Given the description of an element on the screen output the (x, y) to click on. 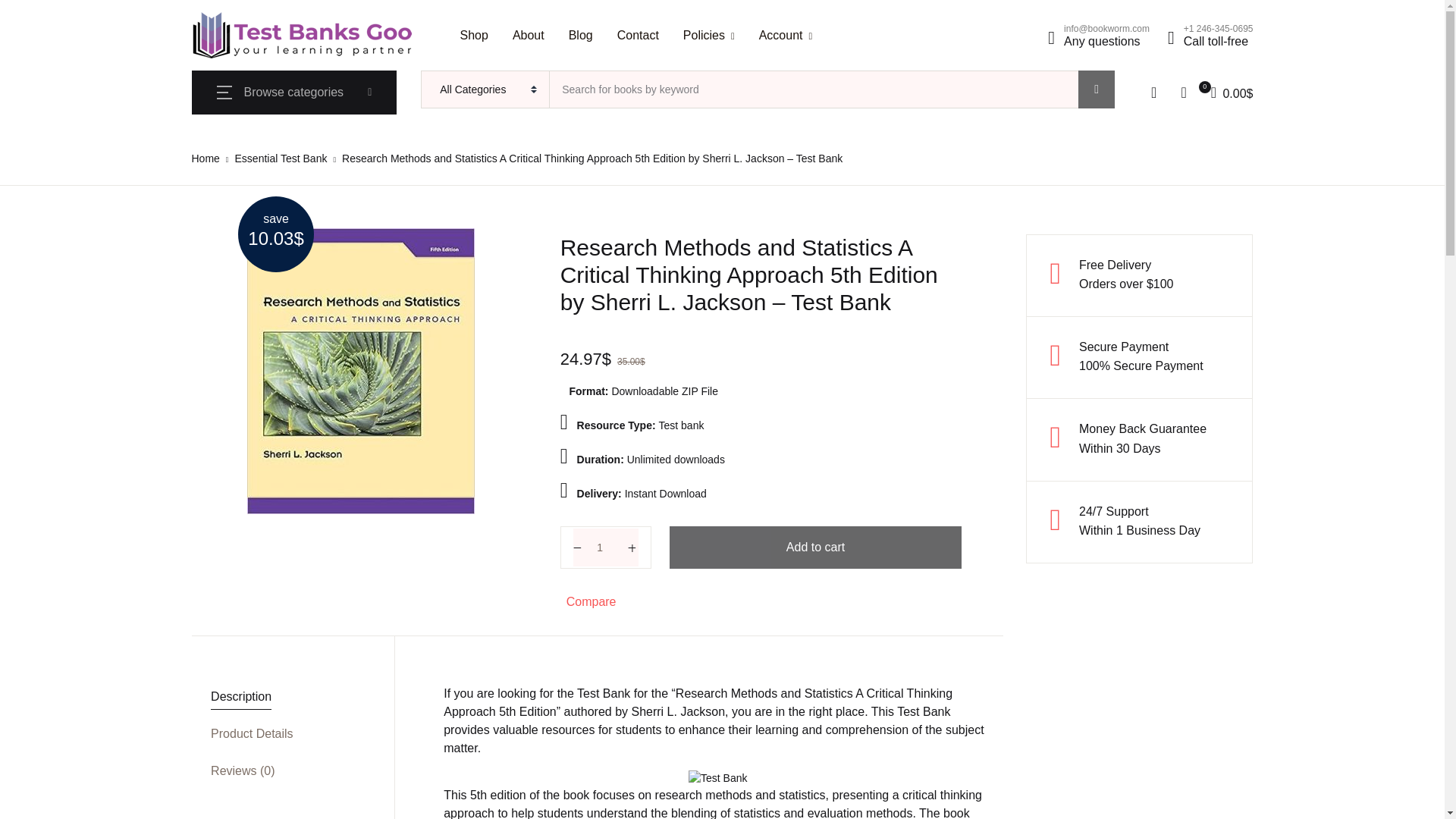
Account (785, 34)
1 (606, 547)
Account (785, 34)
Policies (708, 34)
Contact (638, 34)
Policies (708, 34)
Browse categories (293, 92)
Contact (638, 34)
